Given the description of an element on the screen output the (x, y) to click on. 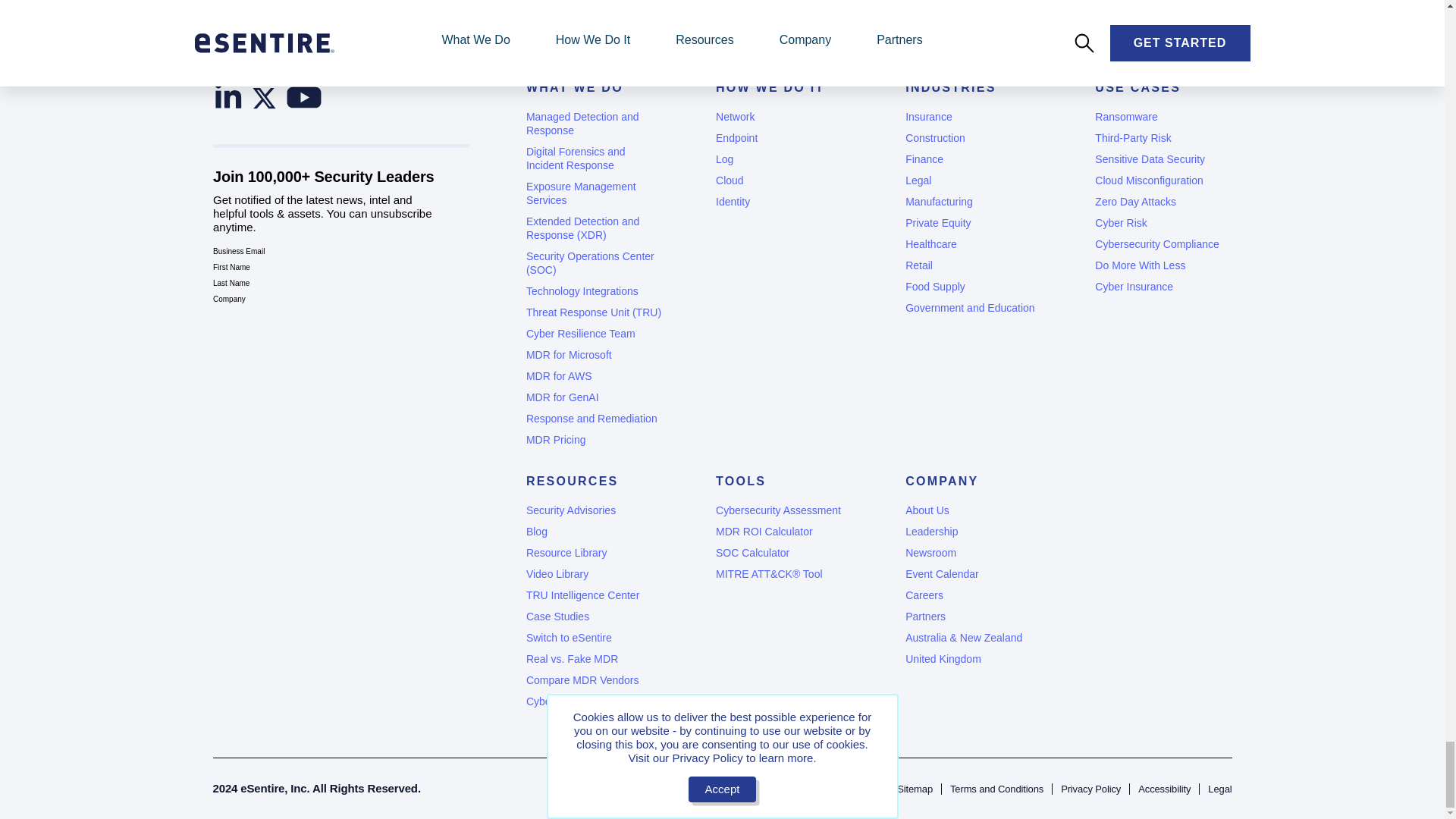
MDR Pricing (593, 439)
MDR for AWS (593, 376)
Endpoint (783, 137)
Response and Remediation (593, 418)
Exposure Management Services (593, 193)
Technology Integrations (593, 291)
MDR for Microsoft (593, 354)
Cyber Resilience Team (593, 333)
GET STARTED (429, 2)
Log (783, 159)
